Given the description of an element on the screen output the (x, y) to click on. 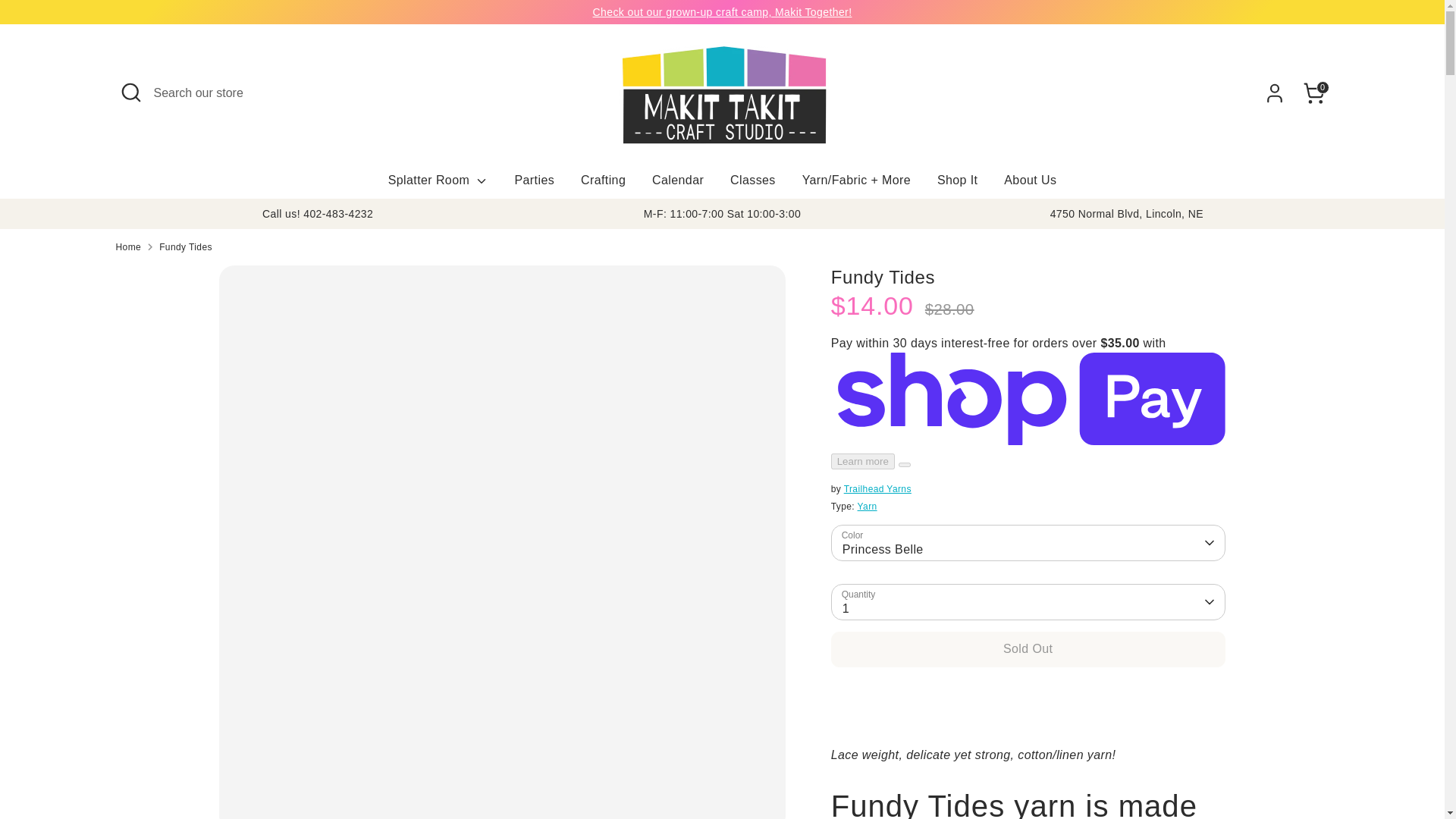
Discover (1100, 771)
American Express (1008, 771)
Crafting (603, 185)
About Us (1029, 185)
Meta Pay (1130, 771)
Check out our grown-up craft camp, Makit Together! (721, 11)
Parties (534, 185)
0 (1312, 92)
Mastercard (1190, 771)
Venmo (1282, 771)
Diners Club (1069, 771)
Calendar (677, 185)
Shop It (958, 185)
Apple Pay (1039, 771)
Google Pay (1160, 771)
